Given the description of an element on the screen output the (x, y) to click on. 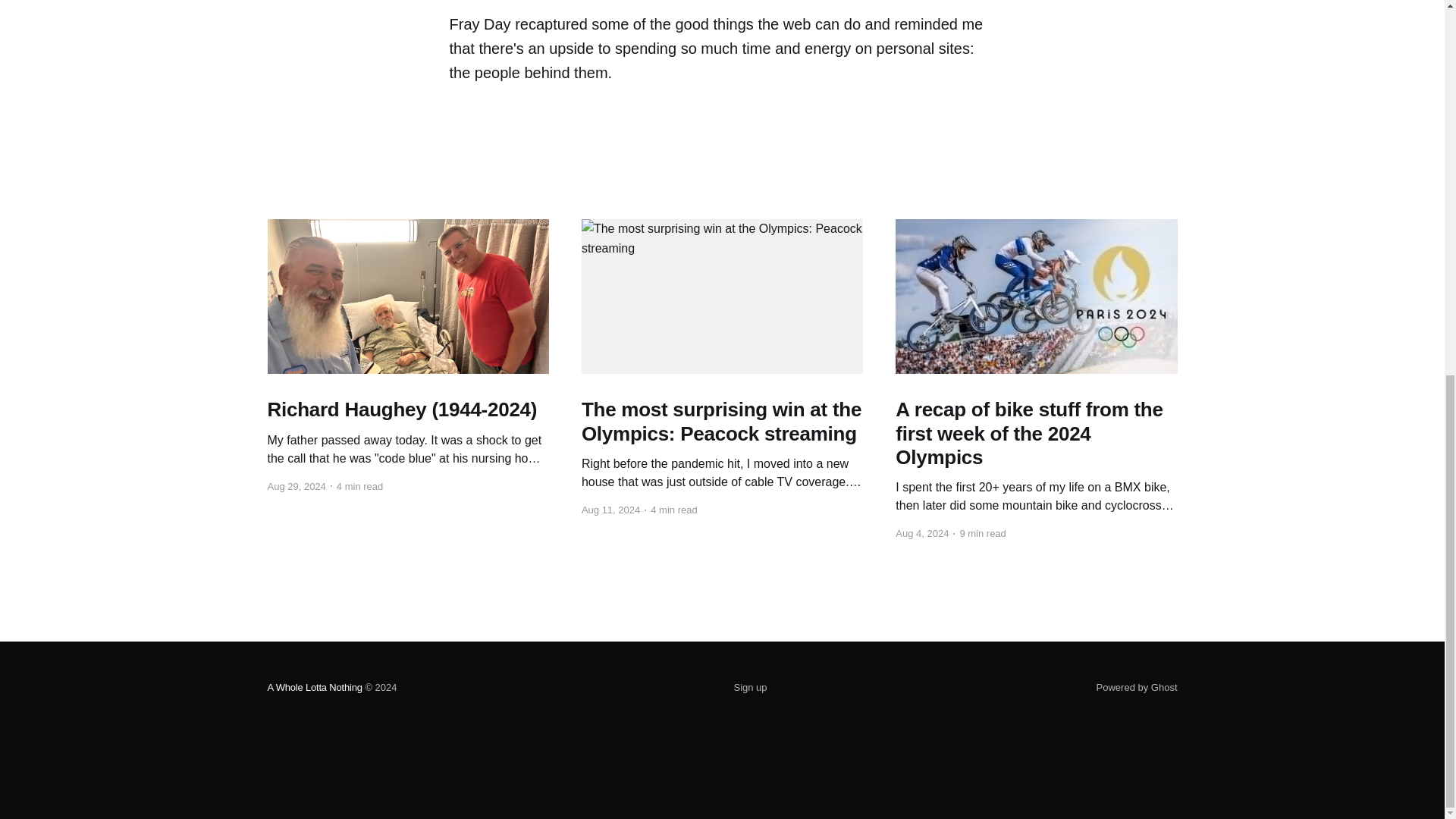
A Whole Lotta Nothing (313, 686)
Powered by Ghost (1136, 686)
Sign up (750, 687)
